Given the description of an element on the screen output the (x, y) to click on. 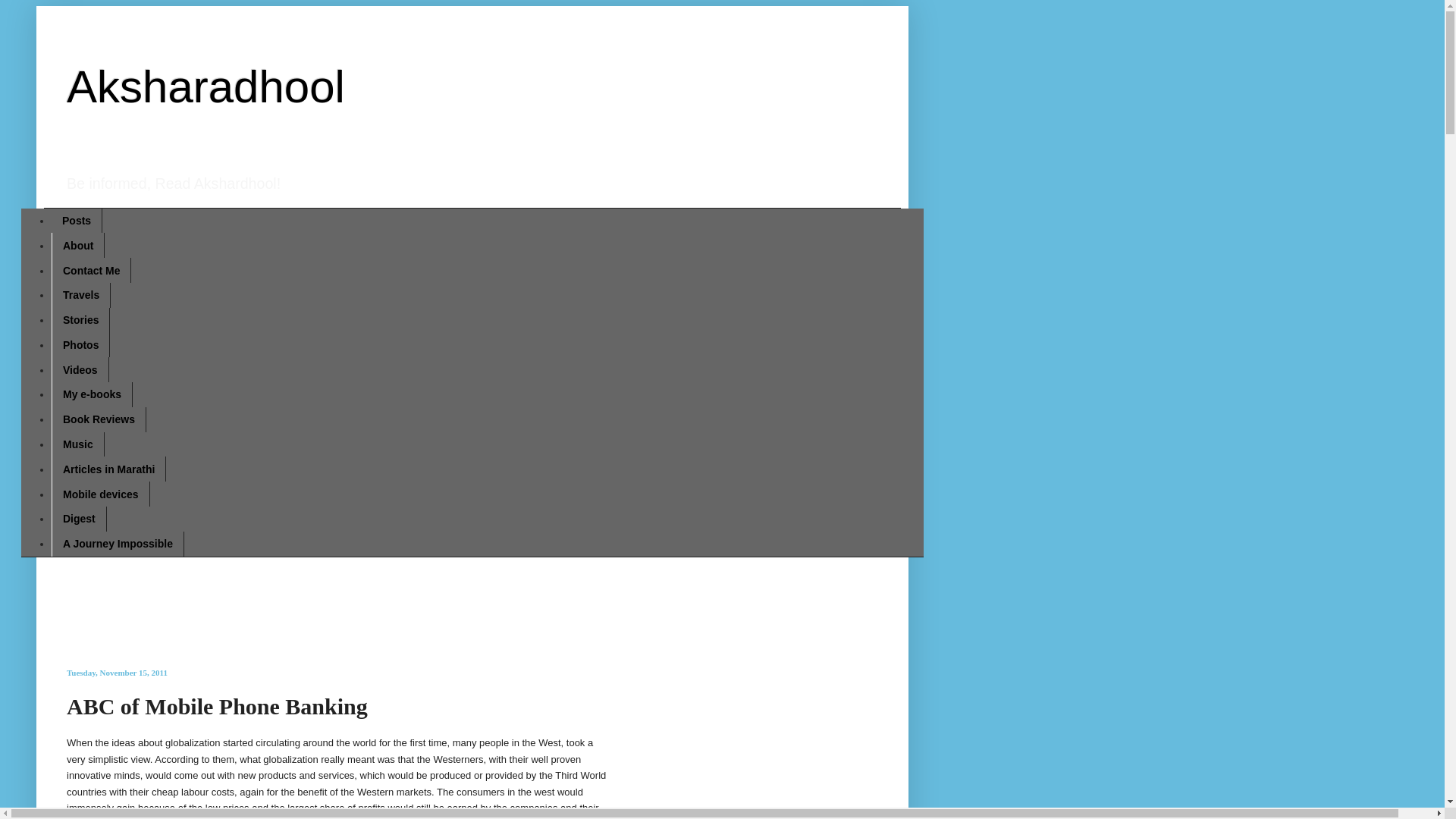
A Journey Impossible (117, 543)
Photos (80, 344)
Music (77, 444)
Aksharadhool (205, 86)
Stories (80, 319)
Videos (79, 369)
Advertisement (410, 601)
Book Reviews (98, 419)
Digest (78, 518)
Contact Me (90, 269)
Mobile devices (99, 493)
Articles in Marathi (107, 468)
About (77, 244)
Travels (80, 294)
Posts (75, 220)
